Given the description of an element on the screen output the (x, y) to click on. 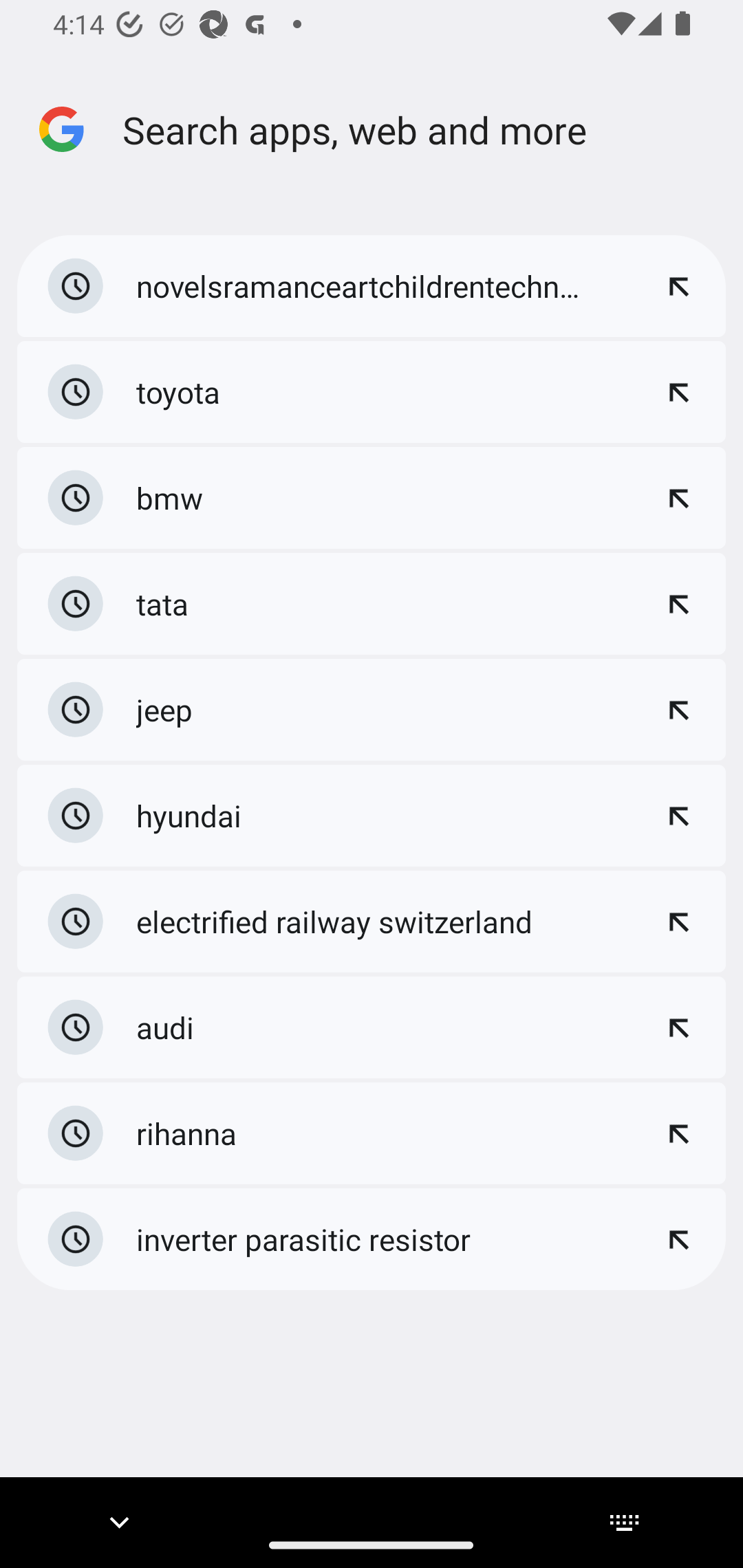
Search apps, web and more (428, 129)
Show predictions for toyota (678, 391)
bmw bmw Search bmw Show predictions for bmw (371, 497)
Show predictions for bmw (678, 497)
tata tata Search tata Show predictions for tata (371, 603)
Show predictions for tata (678, 603)
jeep jeep Search jeep Show predictions for jeep (371, 709)
Show predictions for jeep (678, 709)
Show predictions for hyundai (678, 814)
audi audi Search audi Show predictions for audi (371, 1026)
Show predictions for audi (678, 1026)
Show predictions for rihanna (678, 1133)
Show predictions for inverter parasitic resistor (678, 1238)
